Given the description of an element on the screen output the (x, y) to click on. 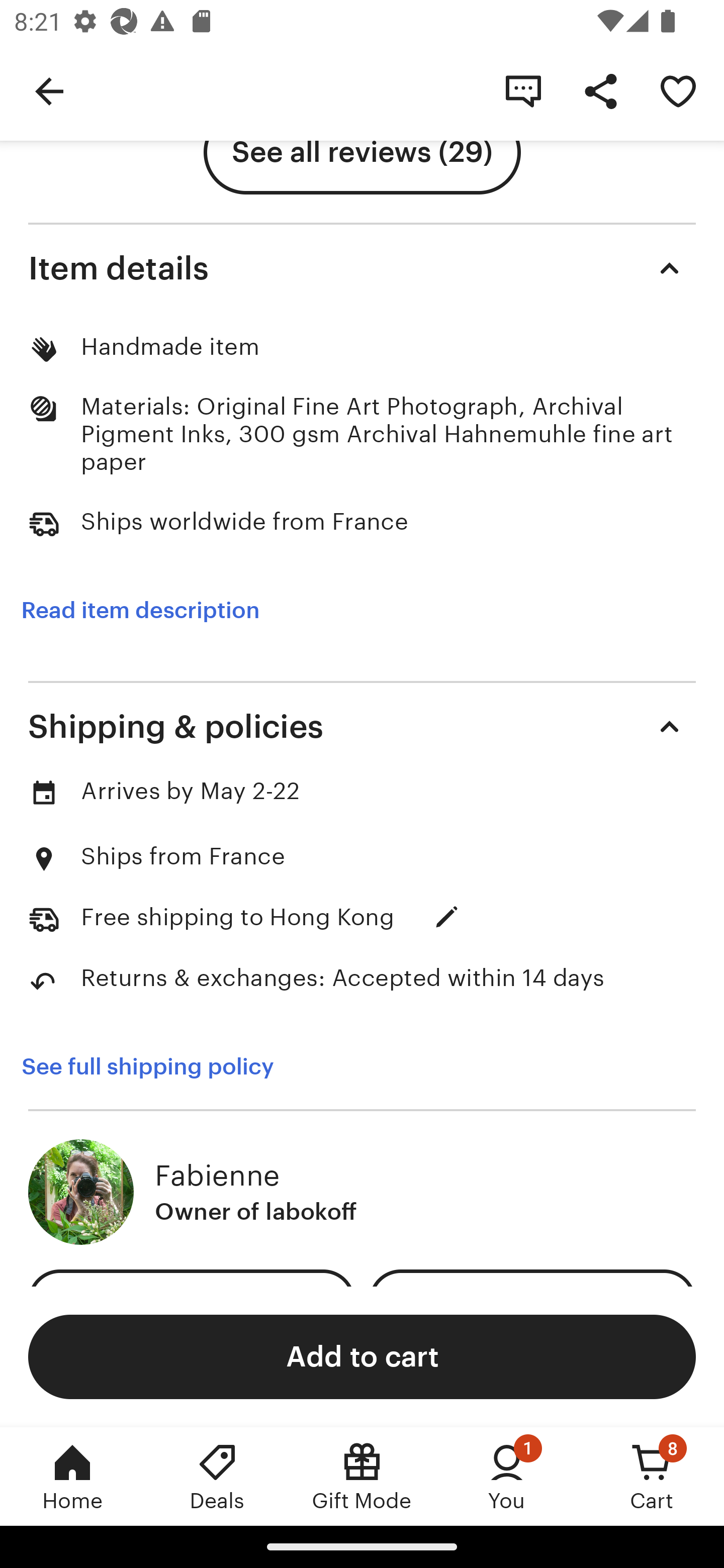
Navigate up (49, 90)
Contact shop (523, 90)
Share (600, 90)
See all reviews (29) (361, 151)
Item details (362, 267)
Read item description (140, 609)
Shipping & policies (362, 726)
Update (446, 916)
See full shipping policy (147, 1066)
Add to cart (361, 1355)
Deals (216, 1475)
Gift Mode (361, 1475)
You, 1 new notification You (506, 1475)
Cart, 8 new notifications Cart (651, 1475)
